Given the description of an element on the screen output the (x, y) to click on. 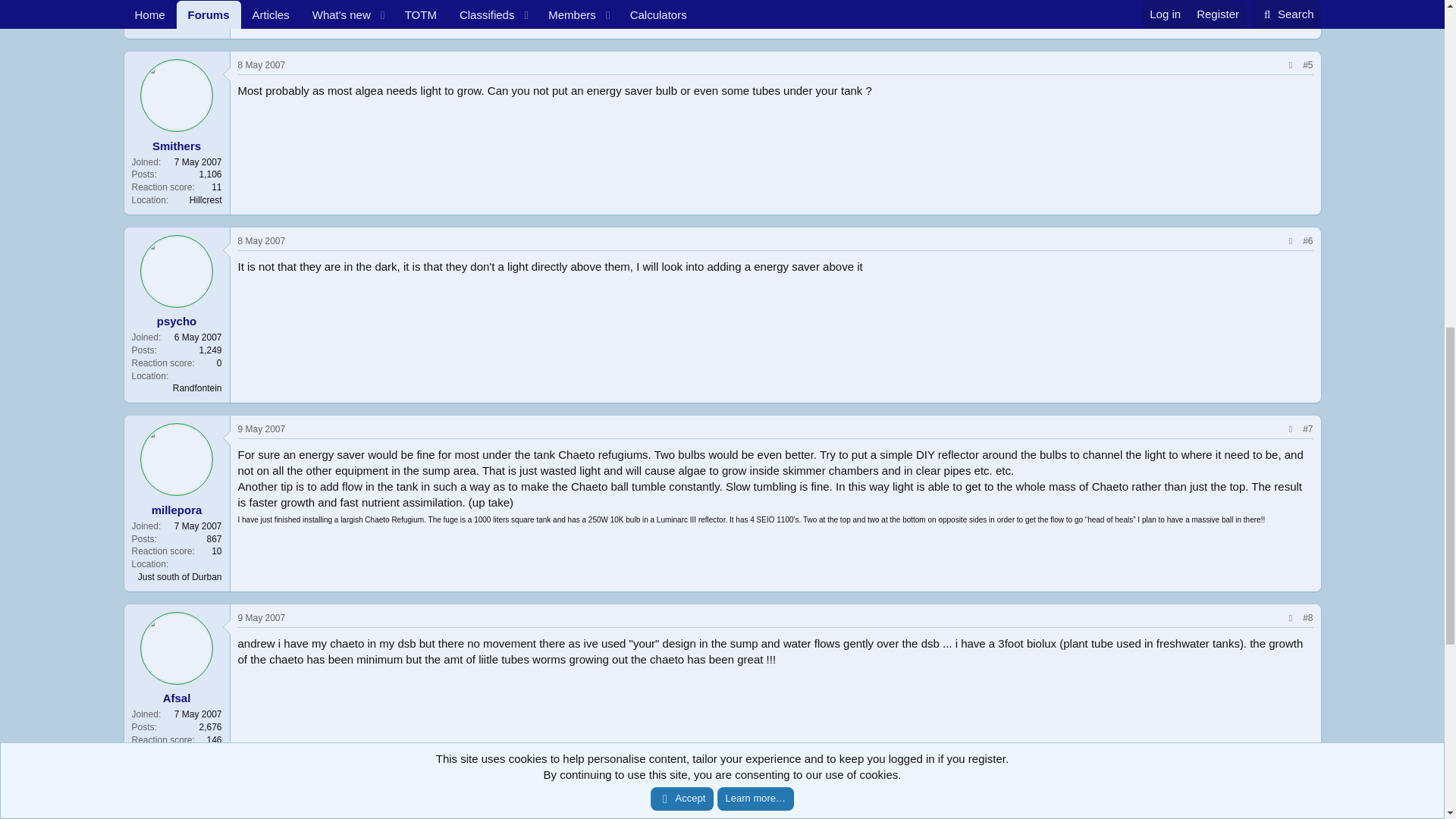
8 May 2007 at 09:33 (261, 64)
9 May 2007 at 08:48 (261, 617)
8 May 2007 at 09:35 (261, 240)
9 May 2007 at 08:55 (261, 792)
9 May 2007 at 08:41 (261, 429)
